Given the description of an element on the screen output the (x, y) to click on. 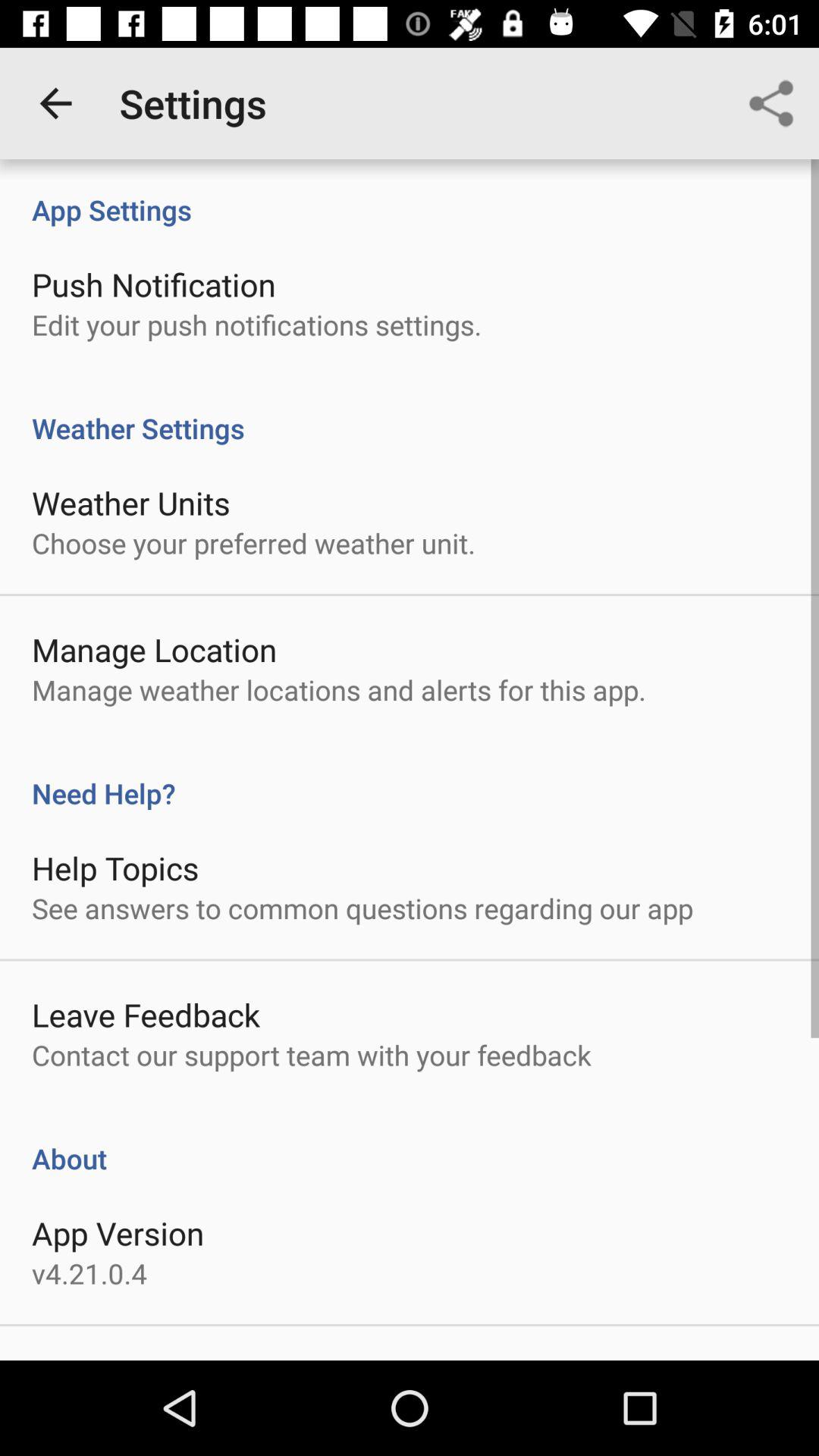
open the item above contact our support item (145, 1014)
